Given the description of an element on the screen output the (x, y) to click on. 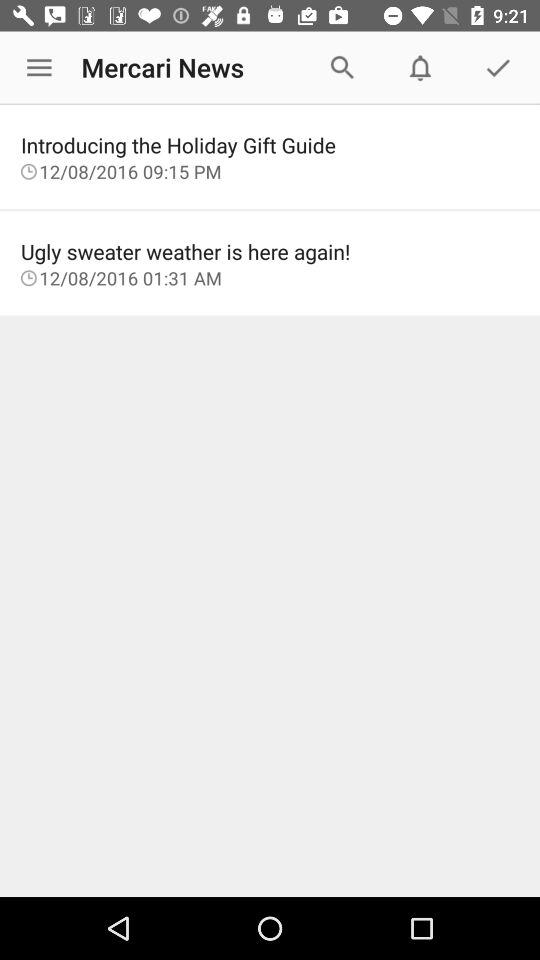
launch the app next to the mercari news app (39, 67)
